Given the description of an element on the screen output the (x, y) to click on. 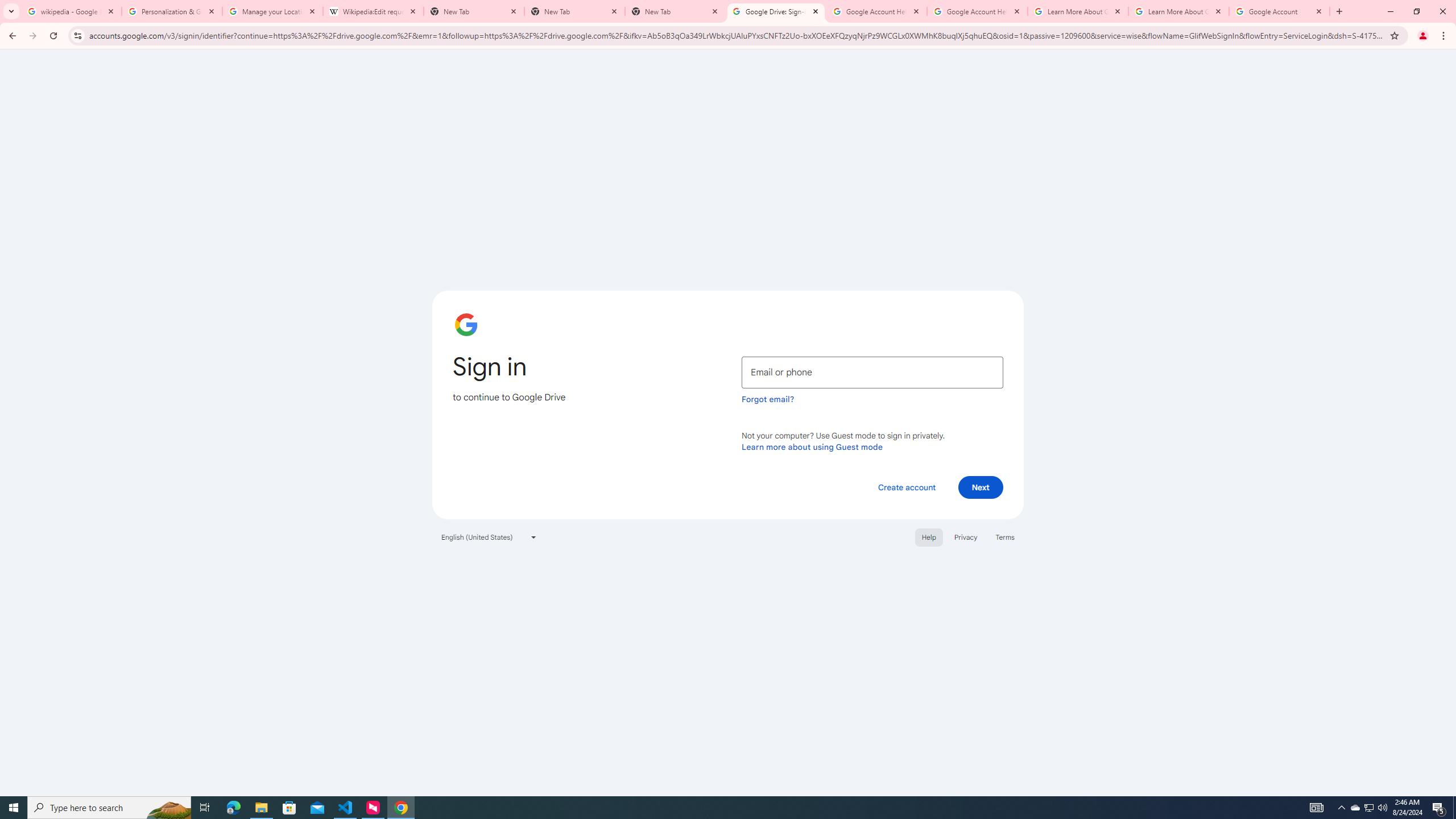
Manage your Location History - Google Search Help (271, 11)
Next (980, 486)
Learn more about using Guest mode (812, 446)
Google Account Help (976, 11)
Google Account Help (876, 11)
Email or phone (872, 372)
